Given the description of an element on the screen output the (x, y) to click on. 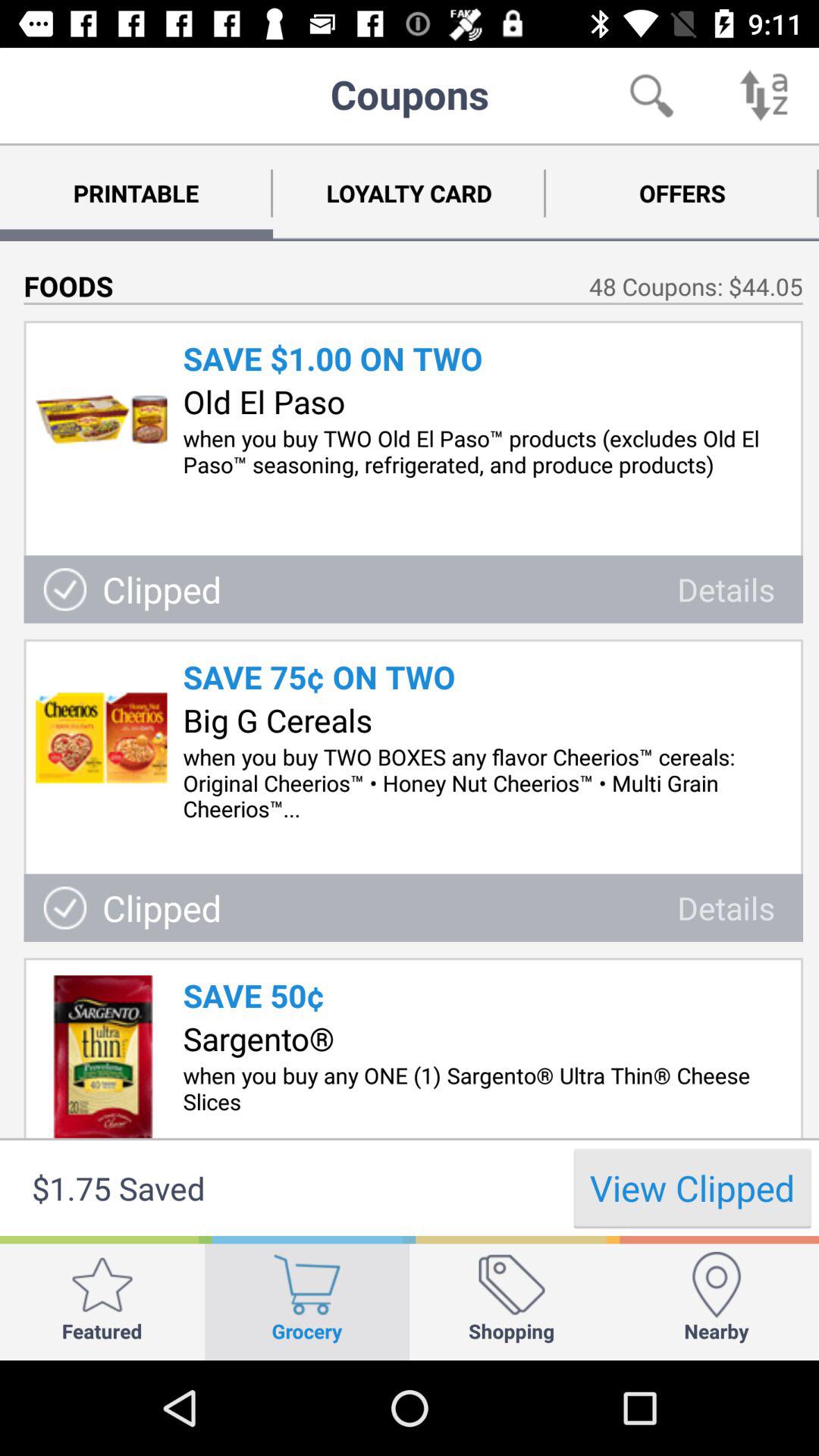
jump until the view clipped icon (692, 1187)
